Given the description of an element on the screen output the (x, y) to click on. 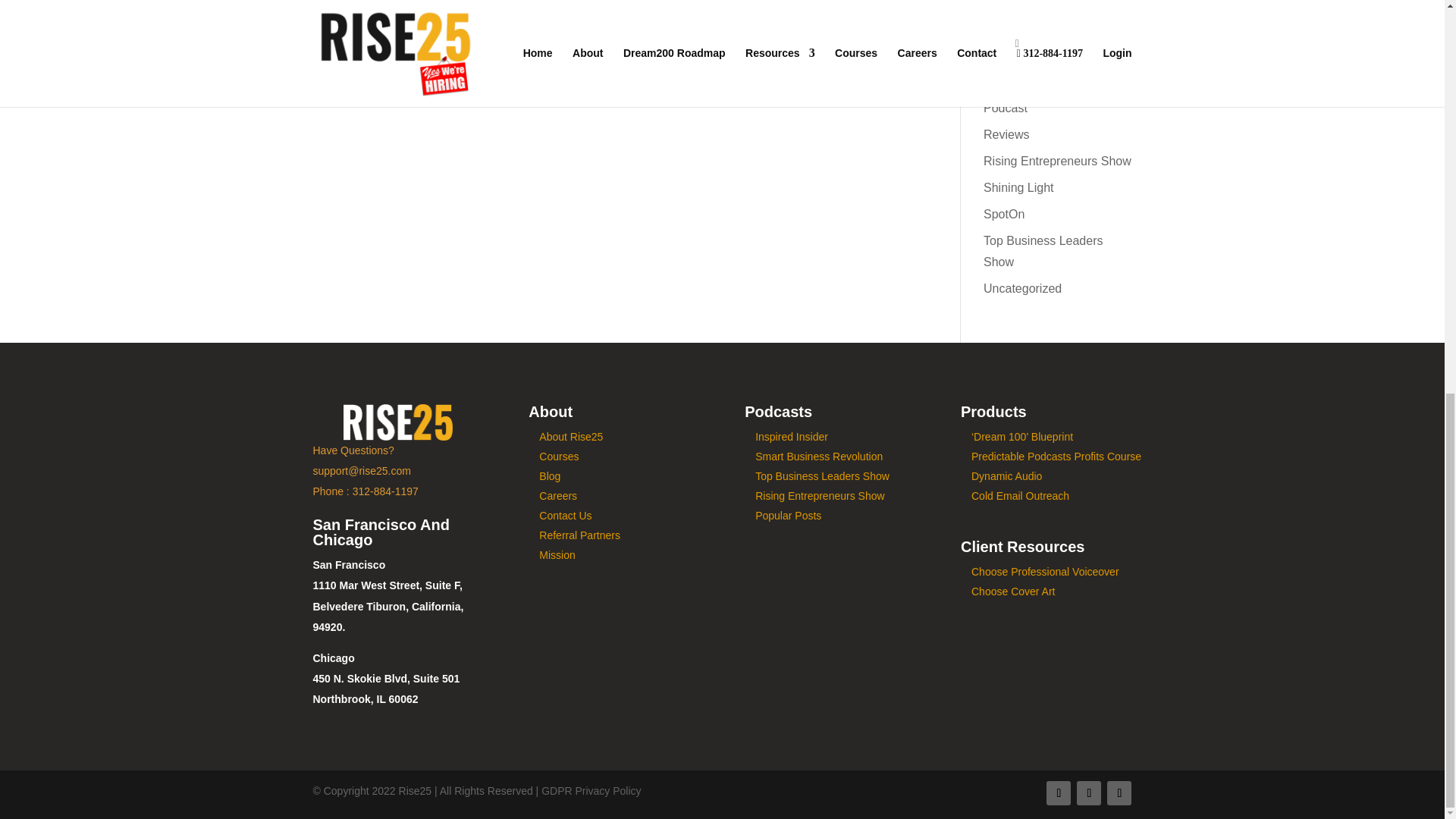
Follow on Youtube (1118, 793)
Contact (353, 450)
Follow on Facebook (1088, 793)
RISE25transparentlogo-inverted (397, 422)
Dynamic Audio (1006, 476)
GDPR Privacy Policy (590, 790)
Accessibility (1413, 30)
Follow on LinkedIn (1058, 793)
Cold Email Outreach (1019, 495)
